Given the description of an element on the screen output the (x, y) to click on. 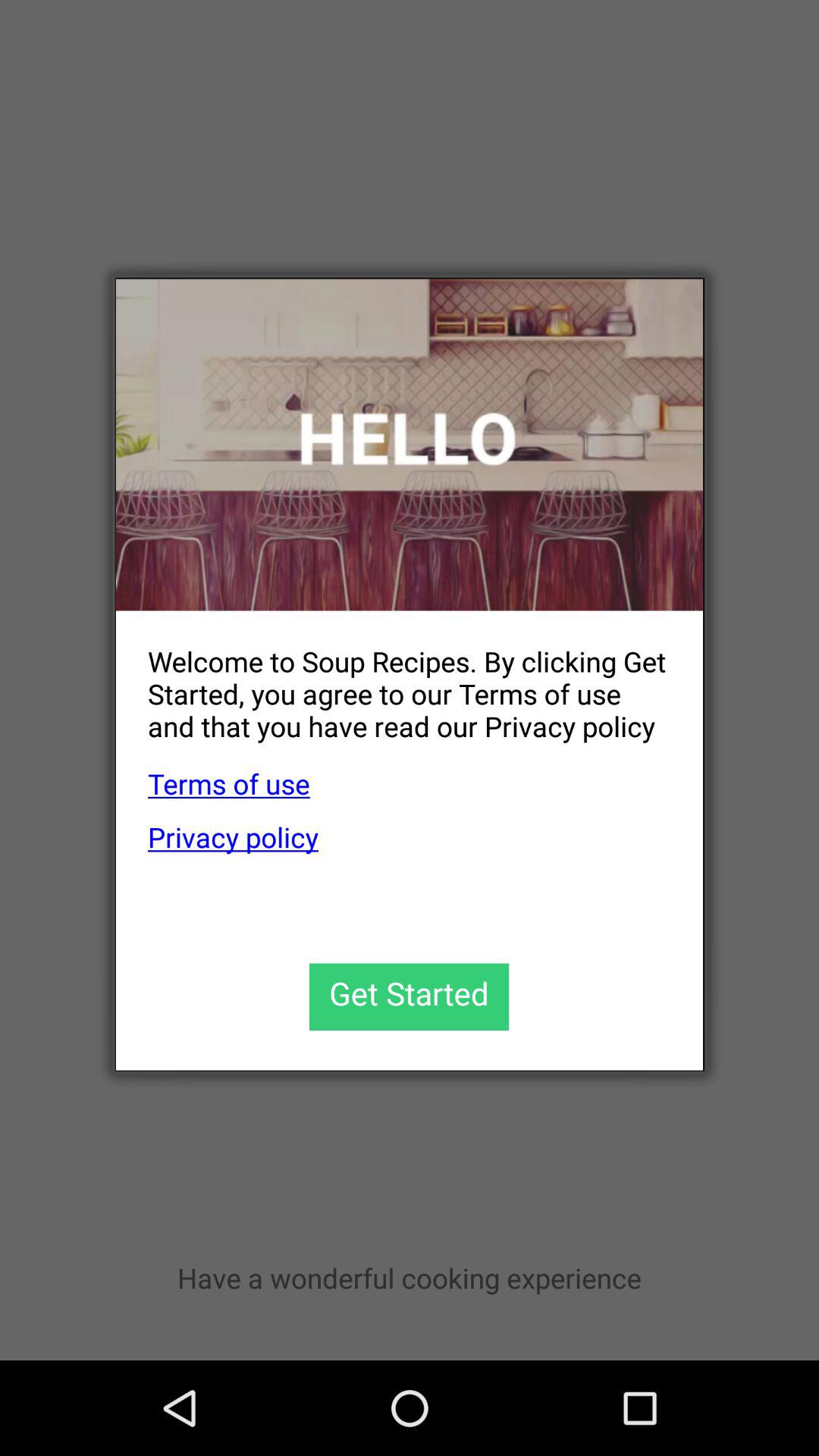
tap icon below the privacy policy item (409, 996)
